Given the description of an element on the screen output the (x, y) to click on. 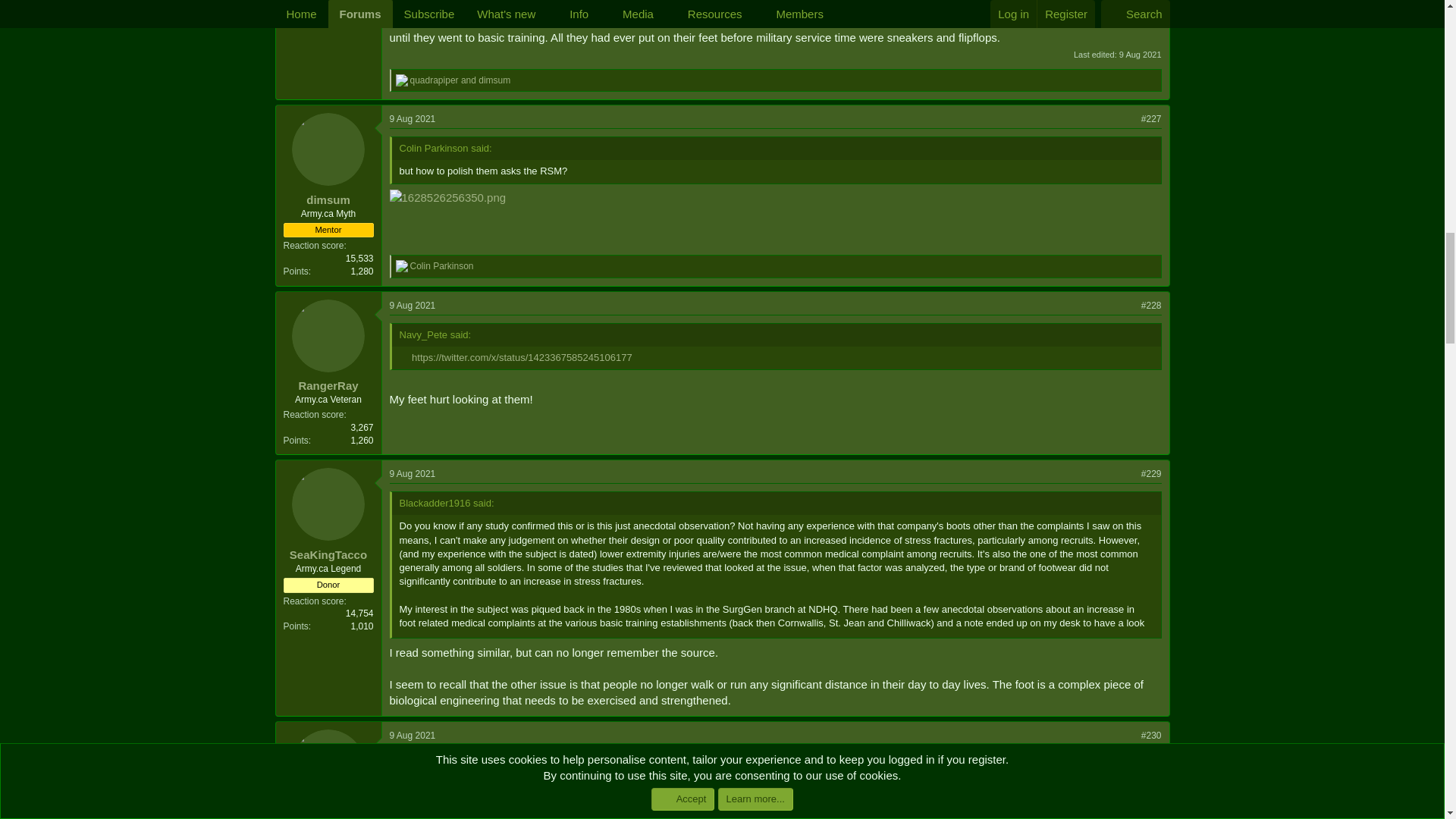
Like (401, 80)
9 Aug 2021 at 13:29 (1140, 53)
9 Aug 2021 at 13:24 (412, 118)
